Given the description of an element on the screen output the (x, y) to click on. 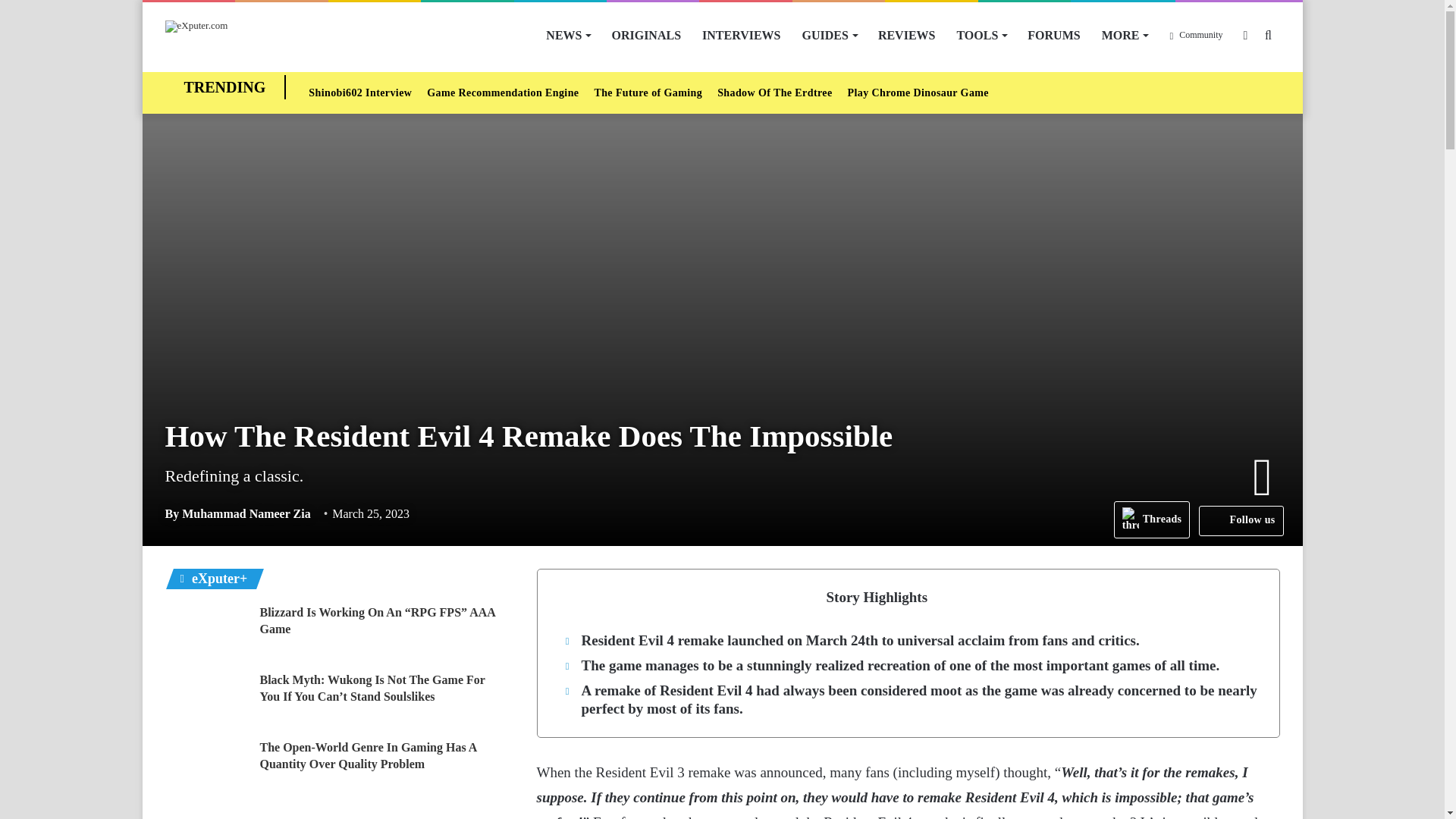
TOOLS (980, 35)
INTERVIEWS (740, 35)
NEWS (567, 35)
eXputer.com (196, 26)
REVIEWS (906, 35)
FORUMS (1053, 35)
Muhammad Nameer Zia (238, 513)
MORE (1124, 35)
ORIGINALS (645, 35)
GUIDES (829, 35)
